Given the description of an element on the screen output the (x, y) to click on. 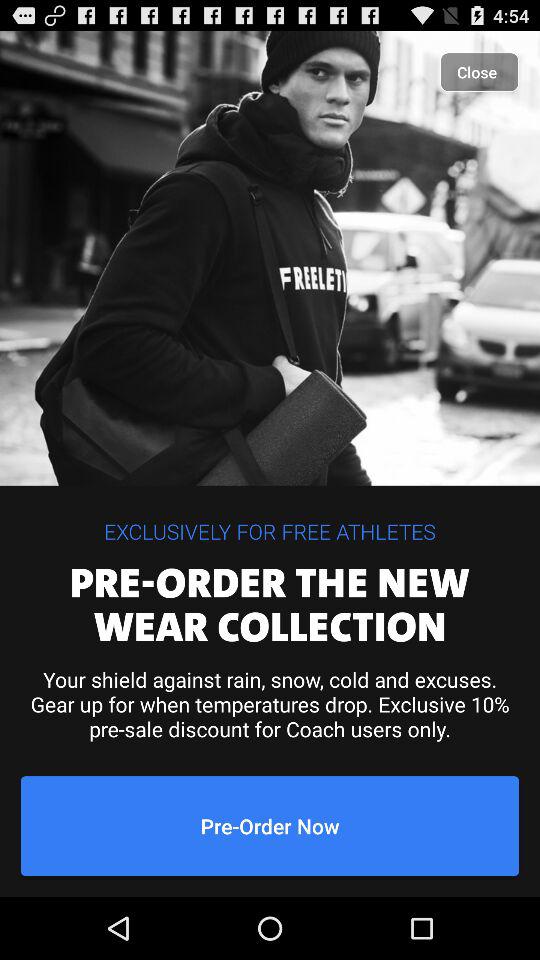
launch the item above pre-order now icon (270, 704)
